Given the description of an element on the screen output the (x, y) to click on. 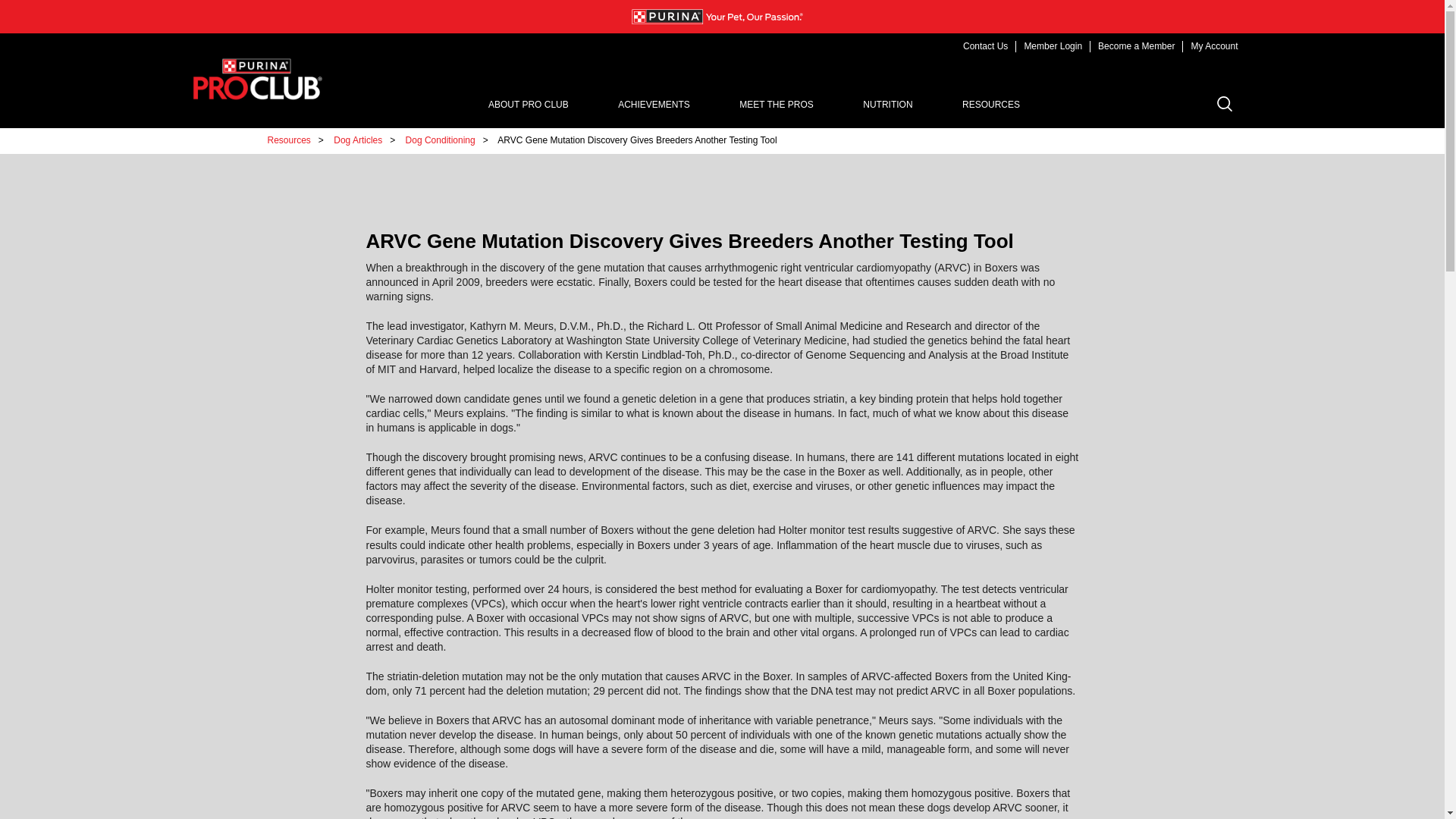
Member Login (1052, 46)
Become a Member (1135, 46)
ACHIEVEMENTS (653, 104)
SEARCH SPYGLASS (1190, 104)
SEARCH TOGGLE (1223, 103)
RESOURCES (991, 104)
My Account (1214, 46)
NUTRITION (887, 104)
